Given the description of an element on the screen output the (x, y) to click on. 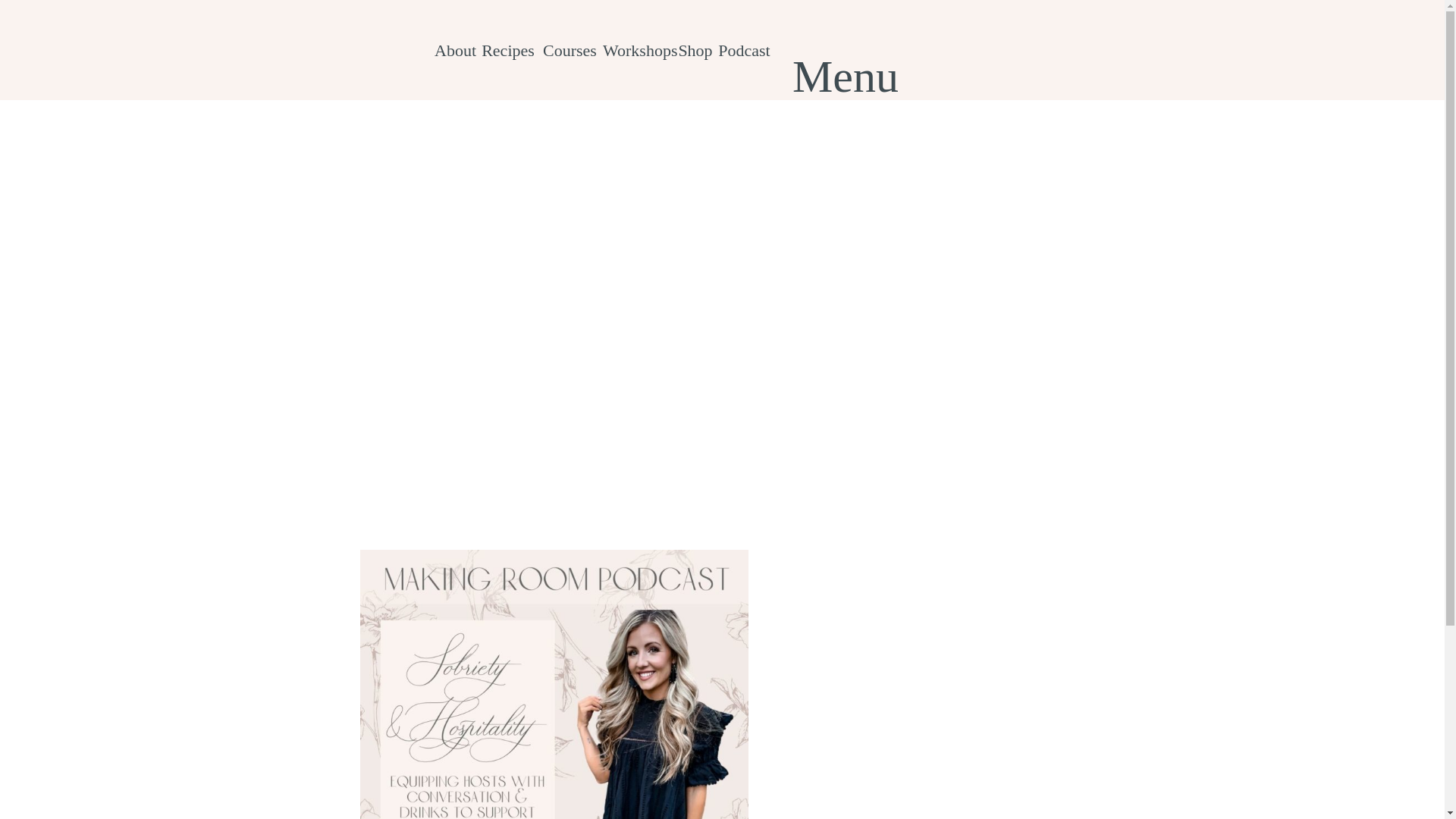
Courses (569, 55)
About (454, 55)
Workshops (637, 55)
Shop (694, 55)
Podcast (743, 55)
Recipes (507, 55)
